Given the description of an element on the screen output the (x, y) to click on. 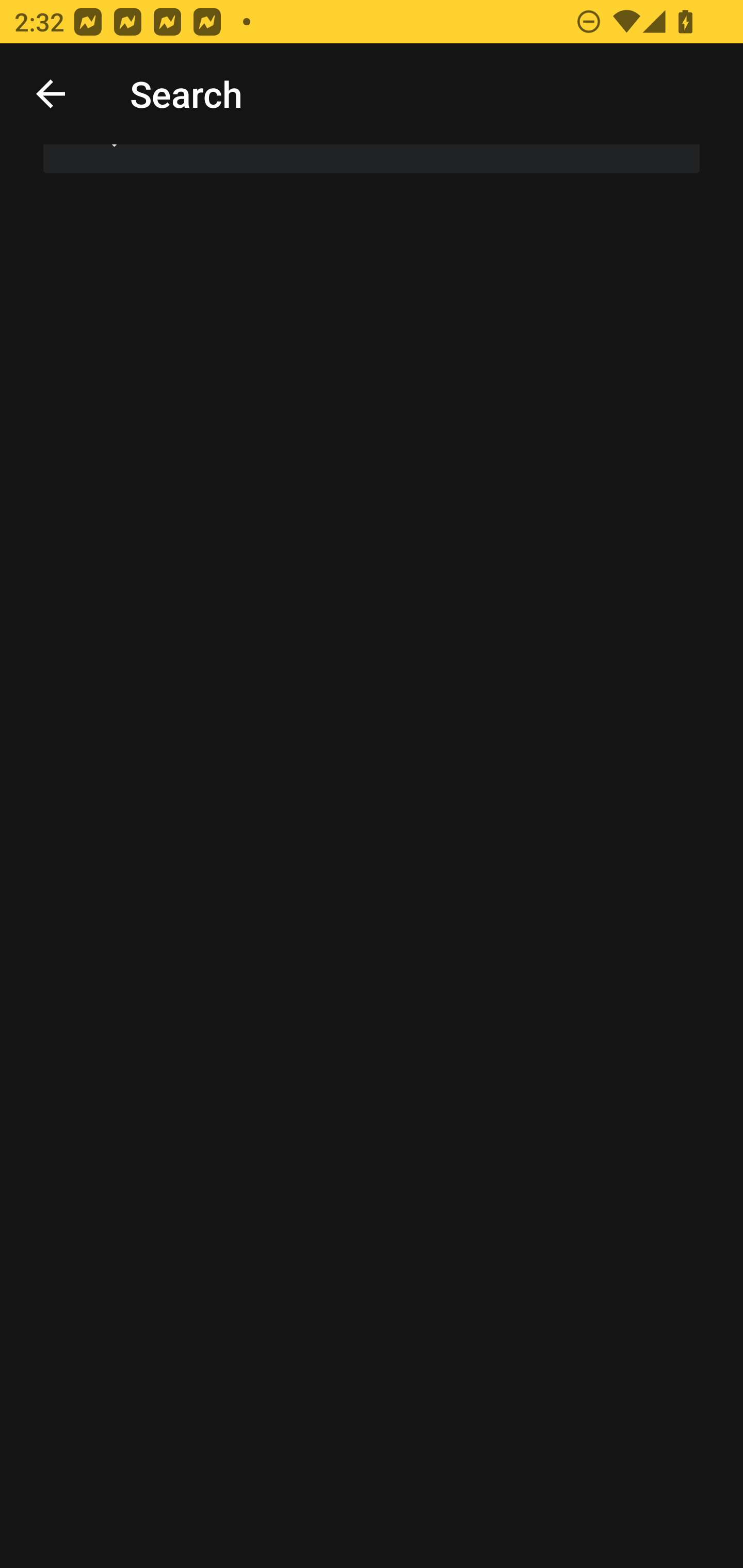
Done (50, 93)
